Given the description of an element on the screen output the (x, y) to click on. 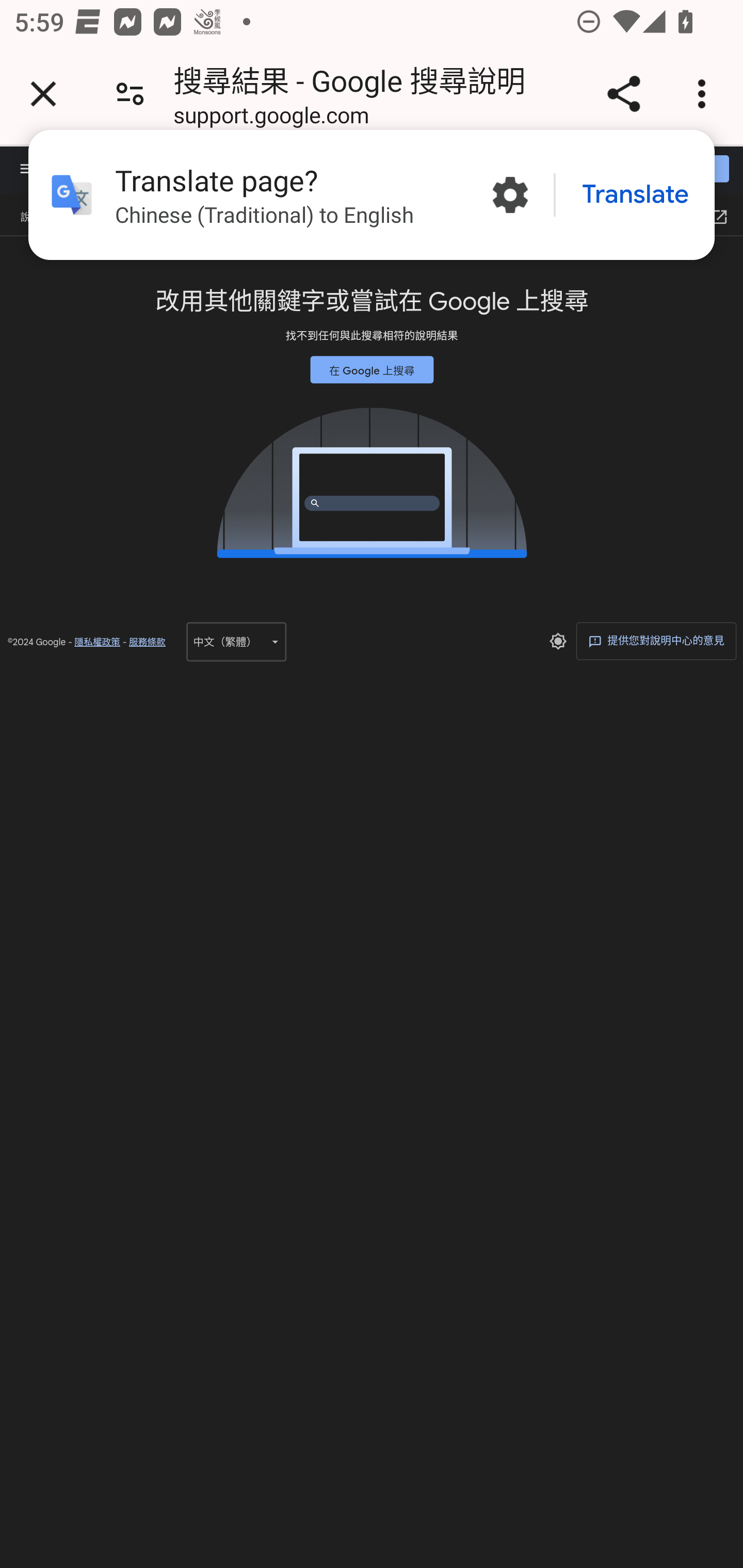
Close tab (43, 93)
Share (623, 93)
Customize and control Google Chrome (705, 93)
Connection is secure (129, 93)
support.google.com (271, 117)
Translate (634, 195)
More options in the Translate page? (509, 195)
在 Google 上搜尋 (371, 368)
選取語言 (中文（繁體）‎) (235, 640)
 提供您對說明中心的意見 (656, 640)
停用深色模式 (557, 641)
隱私權政策 (97, 641)
服務條款 (146, 641)
